Given the description of an element on the screen output the (x, y) to click on. 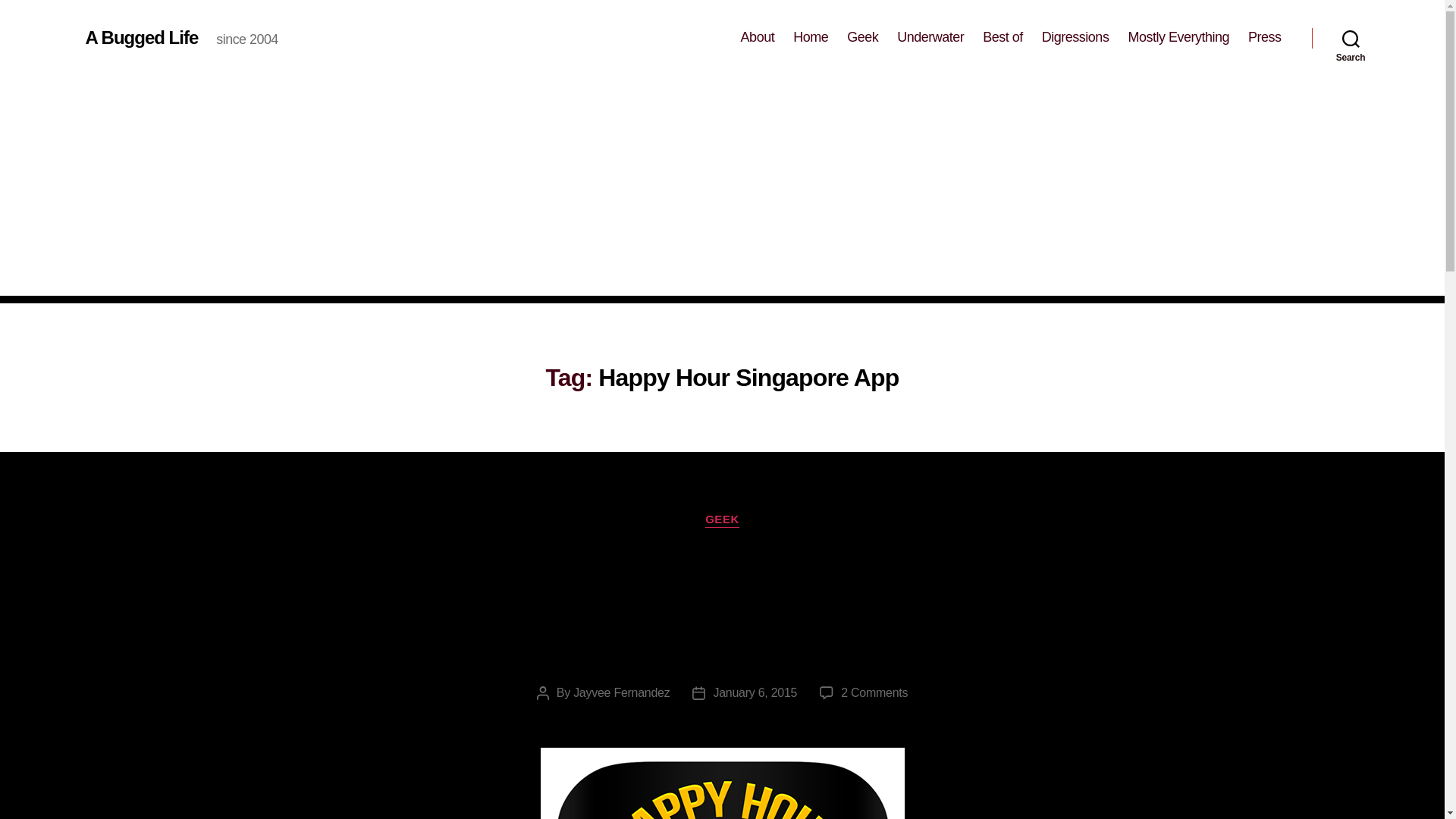
Mostly Everything (1177, 37)
GEEK (721, 519)
Underwater (929, 37)
Geek (862, 37)
A Bugged Life (141, 37)
Home (810, 37)
About (757, 37)
Best of (1002, 37)
Jayvee Fernandez (621, 692)
Digressions (1075, 37)
Press (1264, 37)
January 6, 2015 (754, 692)
Search (1350, 37)
